Given the description of an element on the screen output the (x, y) to click on. 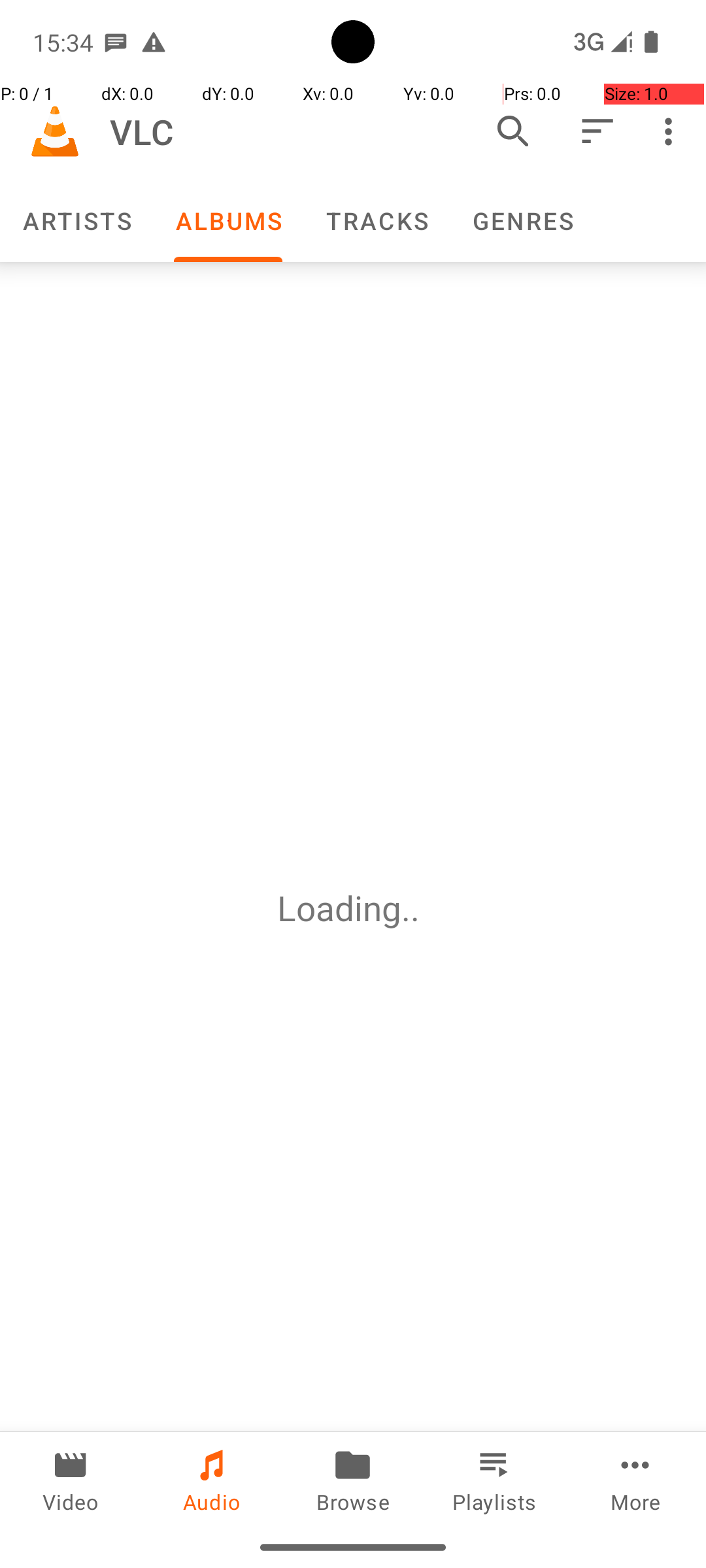
.. Element type: android.widget.TextView (414, 907)
Genres Element type: android.widget.LinearLayout (521, 220)
ARTISTS Element type: android.widget.TextView (76, 220)
ALBUMS Element type: android.widget.TextView (227, 220)
TRACKS Element type: android.widget.TextView (376, 220)
GENRES Element type: android.widget.TextView (521, 220)
